Given the description of an element on the screen output the (x, y) to click on. 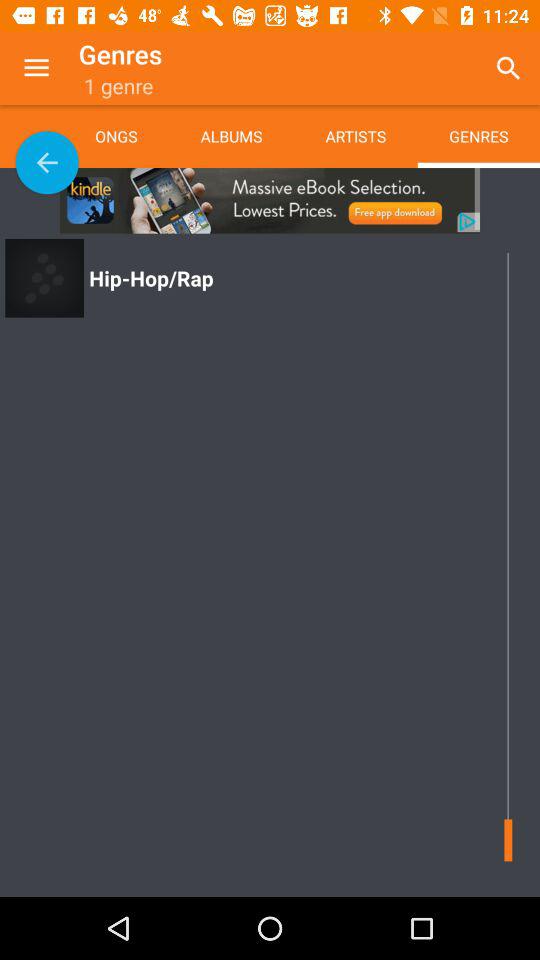
see more music labels (47, 162)
